Given the description of an element on the screen output the (x, y) to click on. 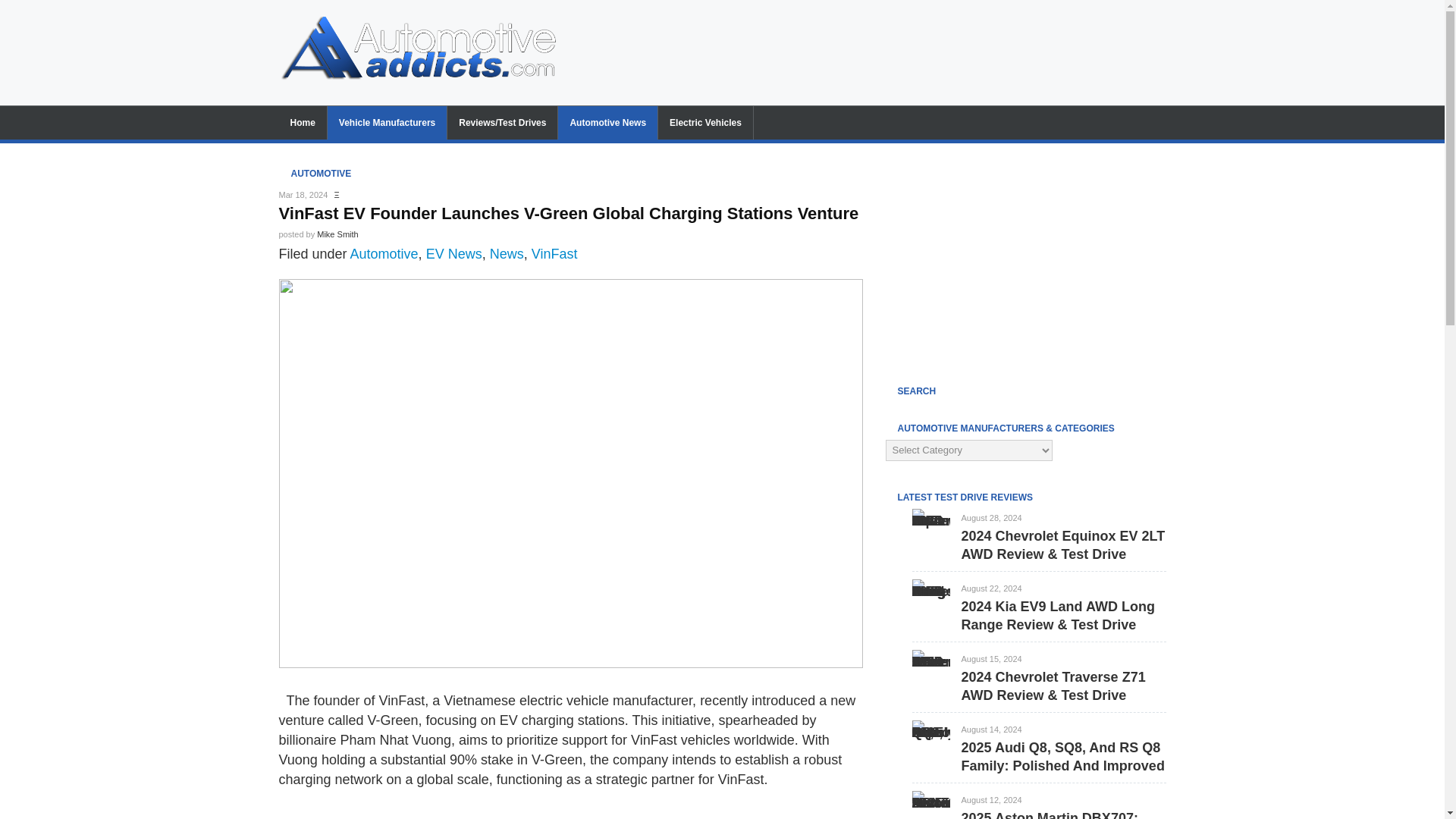
Posts by Mike Smith (337, 234)
Vehicle Manufacturers (386, 122)
Home (302, 122)
